Given the description of an element on the screen output the (x, y) to click on. 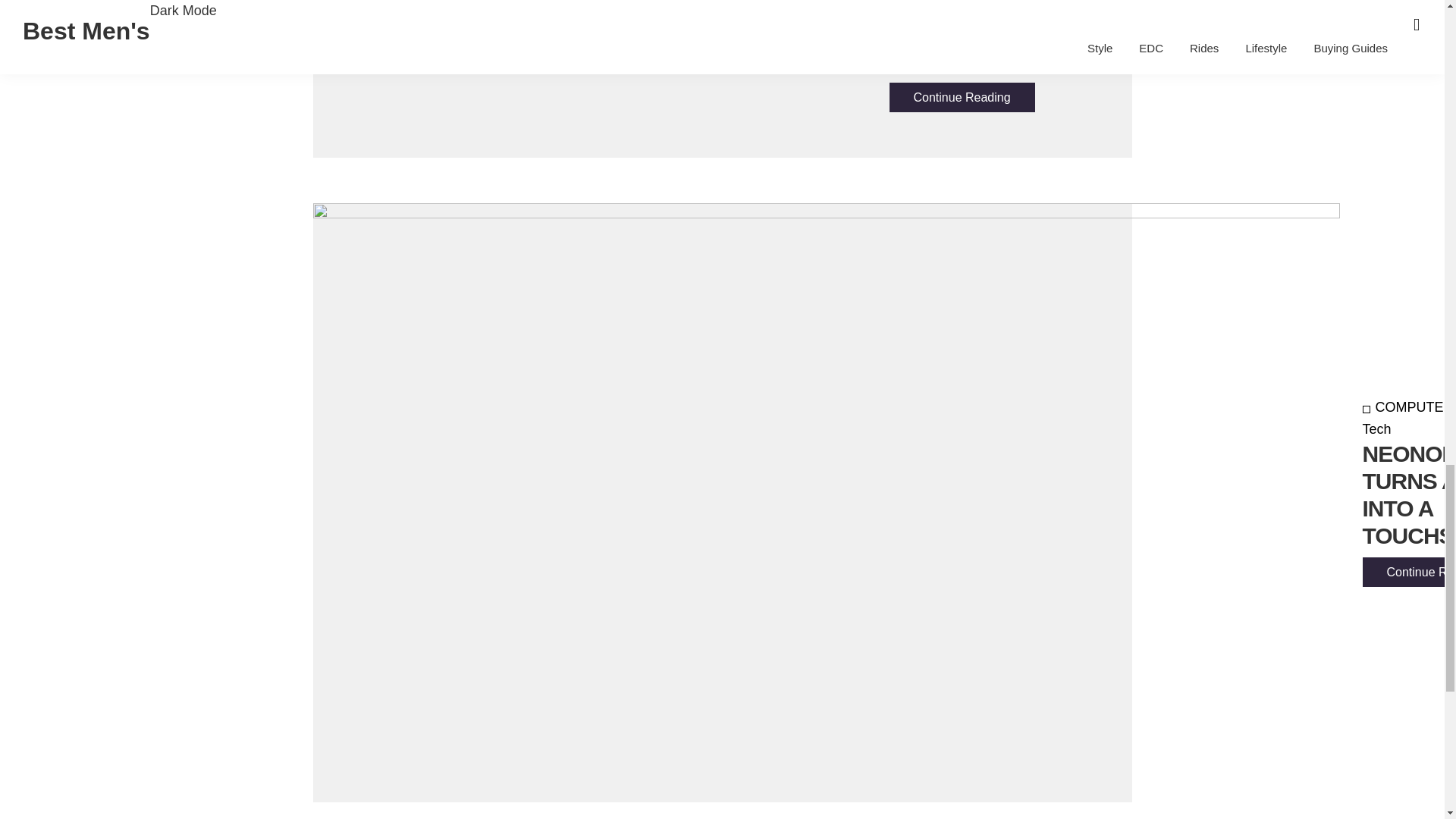
Tech (1408, 417)
COMPUTER PERIPHERALS (1408, 406)
Continue Reading (1408, 572)
Continue Reading (960, 97)
SONY QX1 INTERCHANGEABLE LENS CAMERA (997, 36)
